Given the description of an element on the screen output the (x, y) to click on. 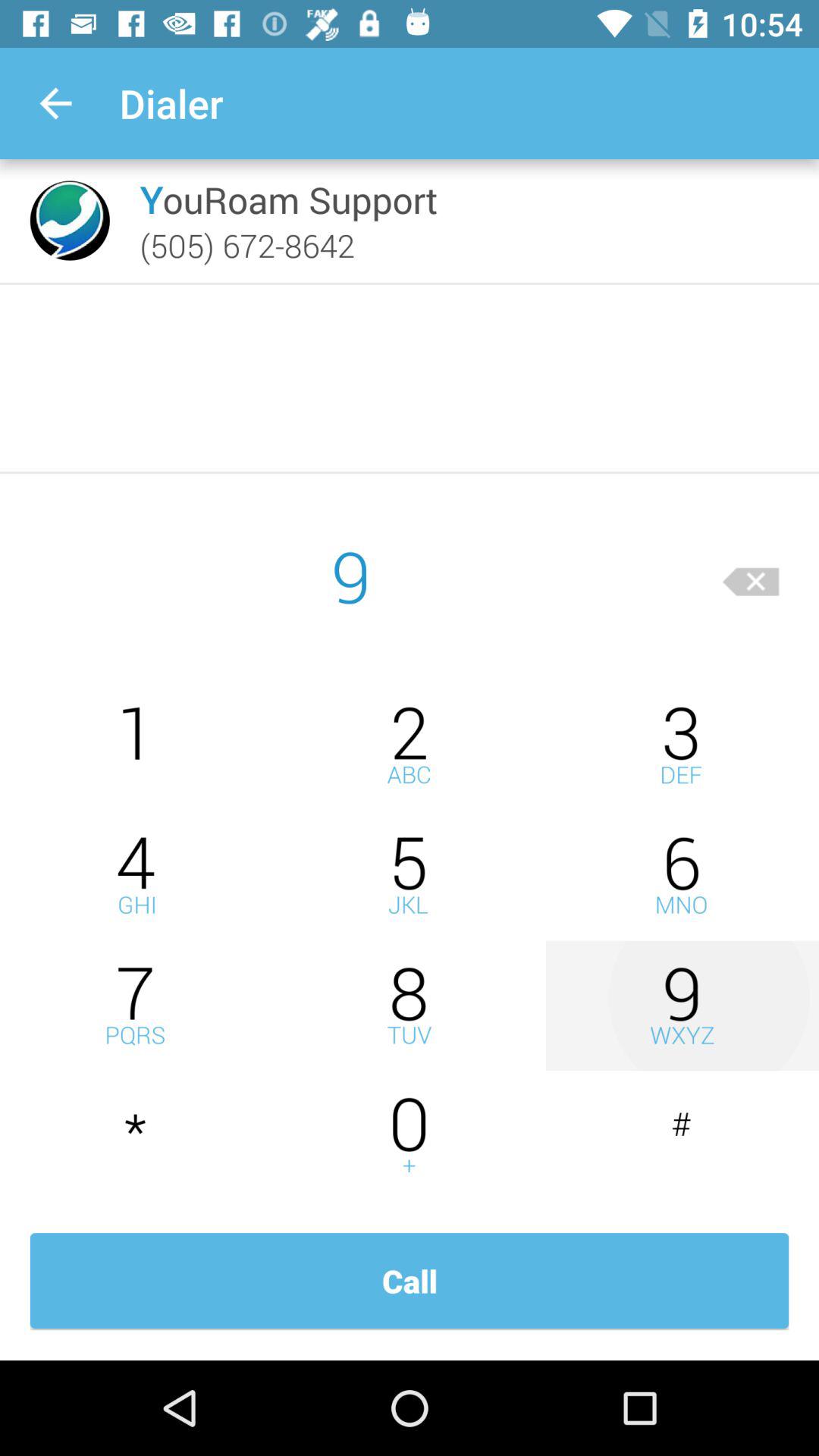
insert number 9 (682, 1005)
